Given the description of an element on the screen output the (x, y) to click on. 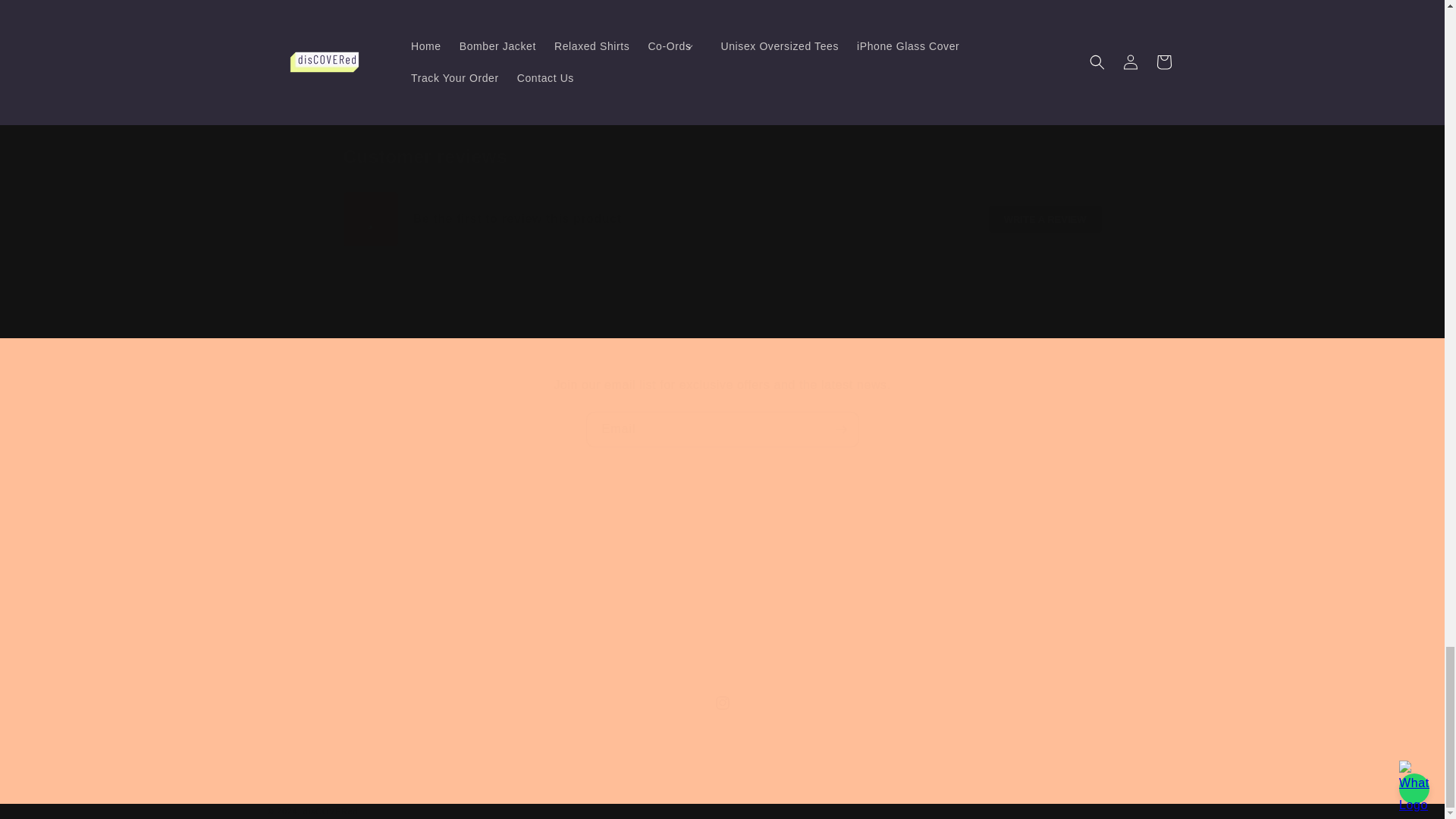
Open media 20 in modal (381, 20)
Instagram (721, 702)
Email (722, 429)
